Given the description of an element on the screen output the (x, y) to click on. 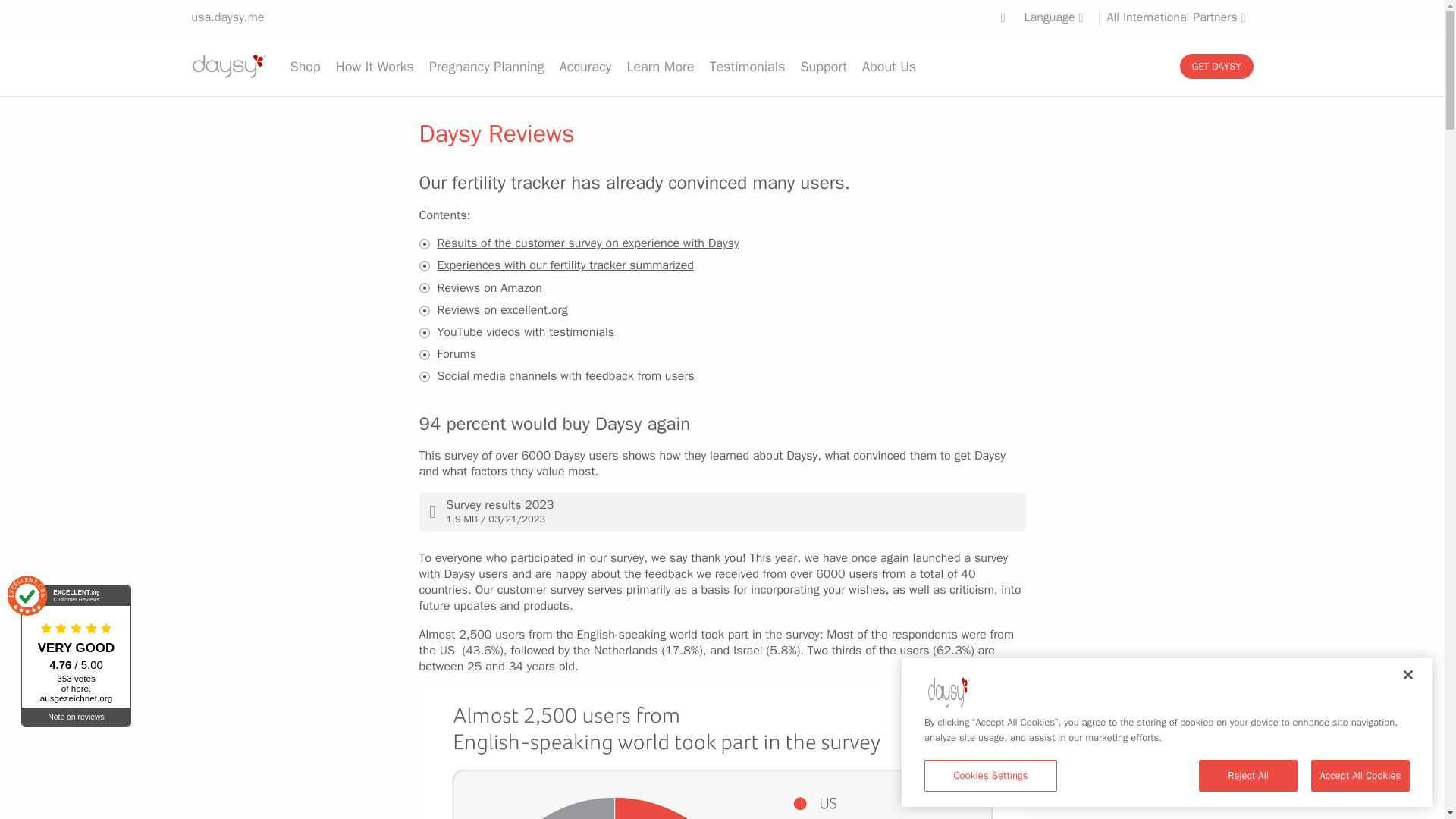
Pregnancy Planning (486, 66)
Learn More (660, 66)
How It Works (374, 66)
All International Partners (1179, 17)
Shop (304, 66)
Accuracy (585, 66)
Company Logo (948, 689)
